Given the description of an element on the screen output the (x, y) to click on. 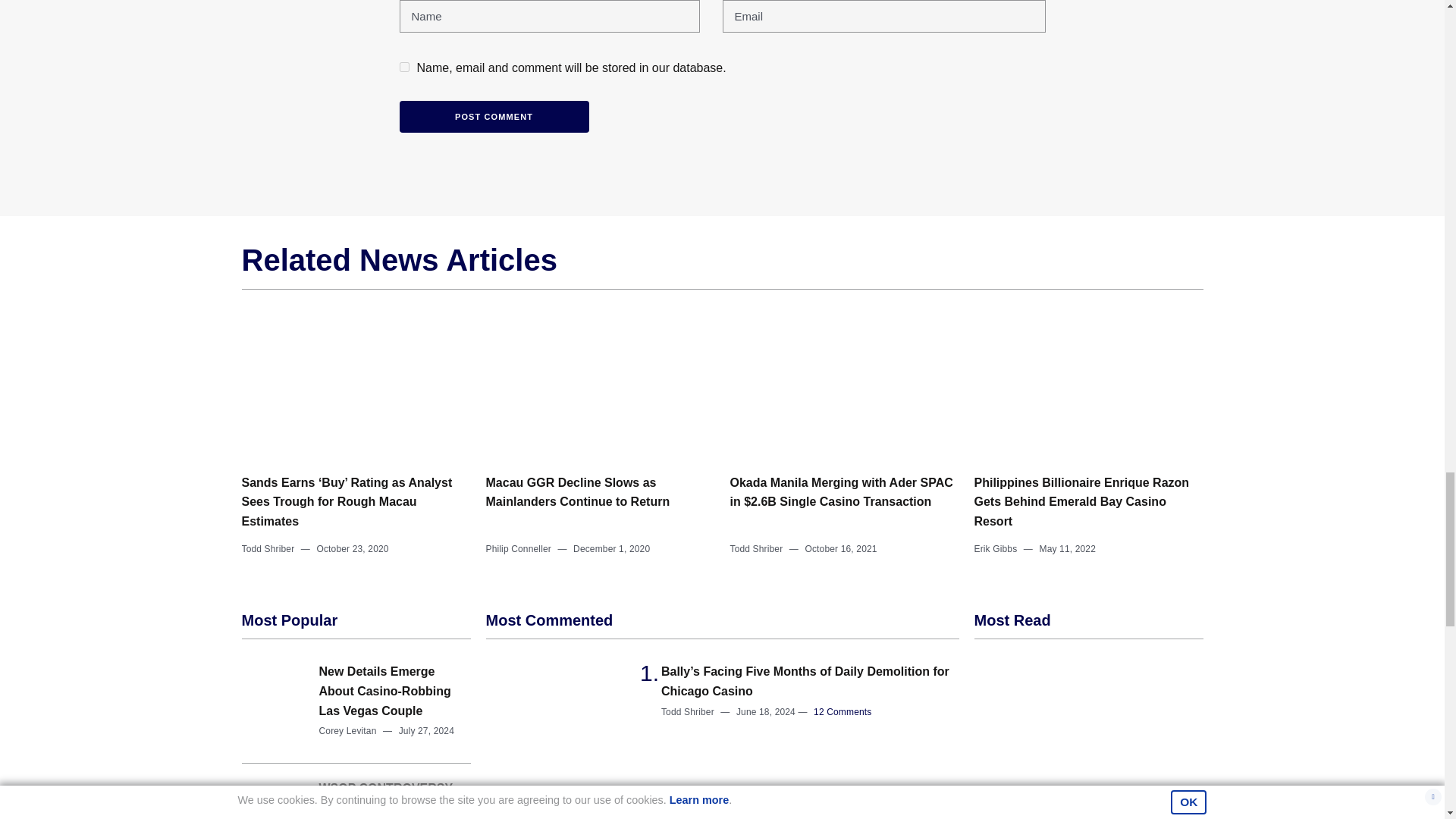
yes (403, 67)
Post Comment (493, 116)
